Given the description of an element on the screen output the (x, y) to click on. 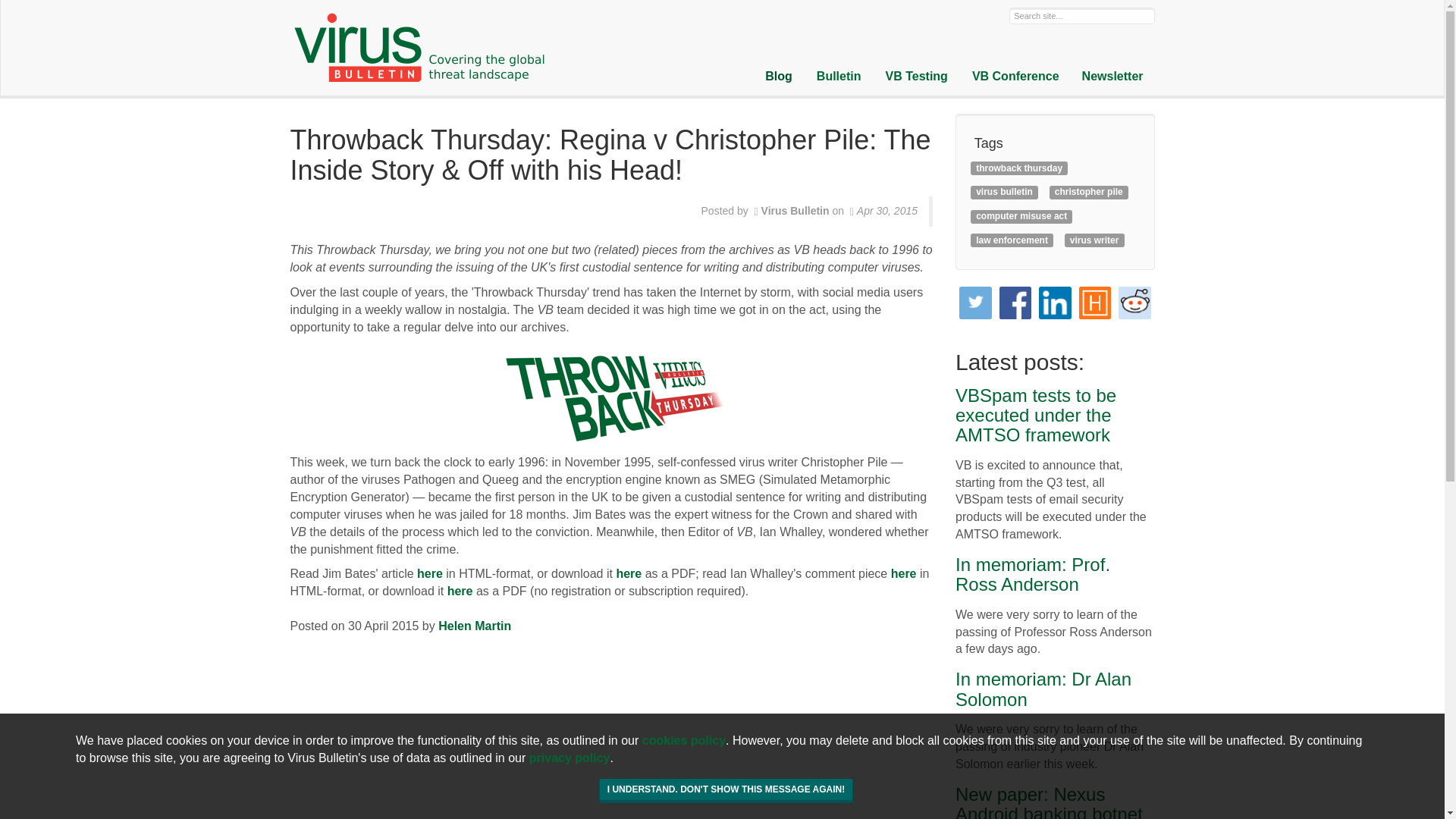
computer misuse act (1021, 215)
Share on Facebook (1014, 303)
Newsletter (1112, 76)
VB Testing (915, 76)
Blog (778, 76)
law enforcement (1011, 240)
here (459, 590)
christopher pile (1088, 191)
Bulletin (838, 76)
In memoriam: Prof. Ross Anderson (1032, 574)
Share on LinkedIn (1055, 303)
throwback thursday (1018, 167)
reddit this! (1134, 303)
I understand. Don't show this message again! (725, 790)
Search! (30, 12)
